Given the description of an element on the screen output the (x, y) to click on. 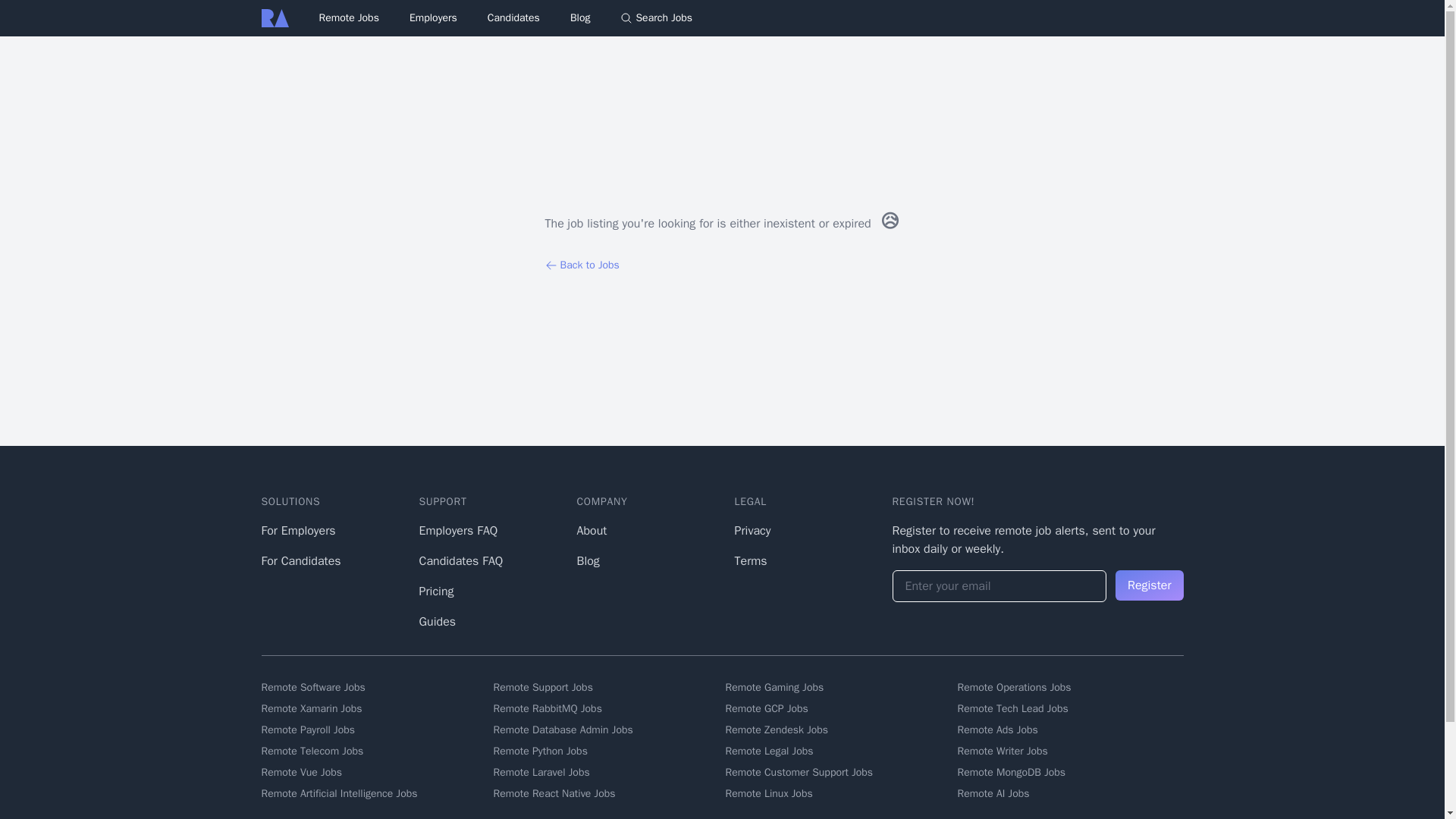
For Employers (297, 530)
Remote Gaming Jobs (837, 687)
Employers (433, 17)
Blog (580, 17)
Remote Army (274, 18)
For Candidates (300, 560)
Remote Jobs (348, 17)
Candidates (513, 17)
Remote GCP Jobs (837, 708)
Blog (587, 560)
Register (1149, 585)
Privacy (751, 530)
Candidates FAQ (460, 560)
Home (274, 18)
Remote Software Jobs (373, 687)
